Given the description of an element on the screen output the (x, y) to click on. 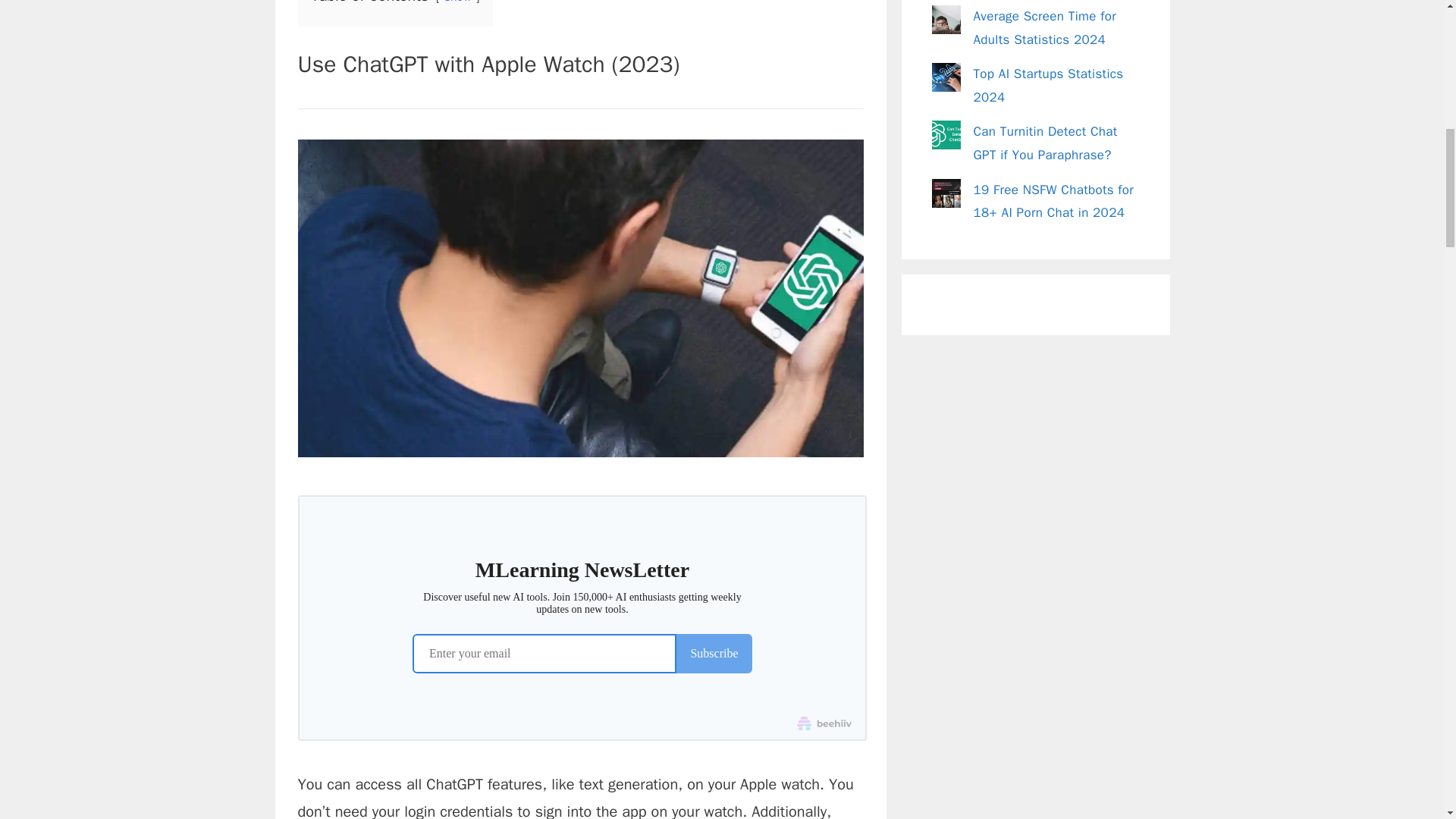
show (457, 2)
